Given the description of an element on the screen output the (x, y) to click on. 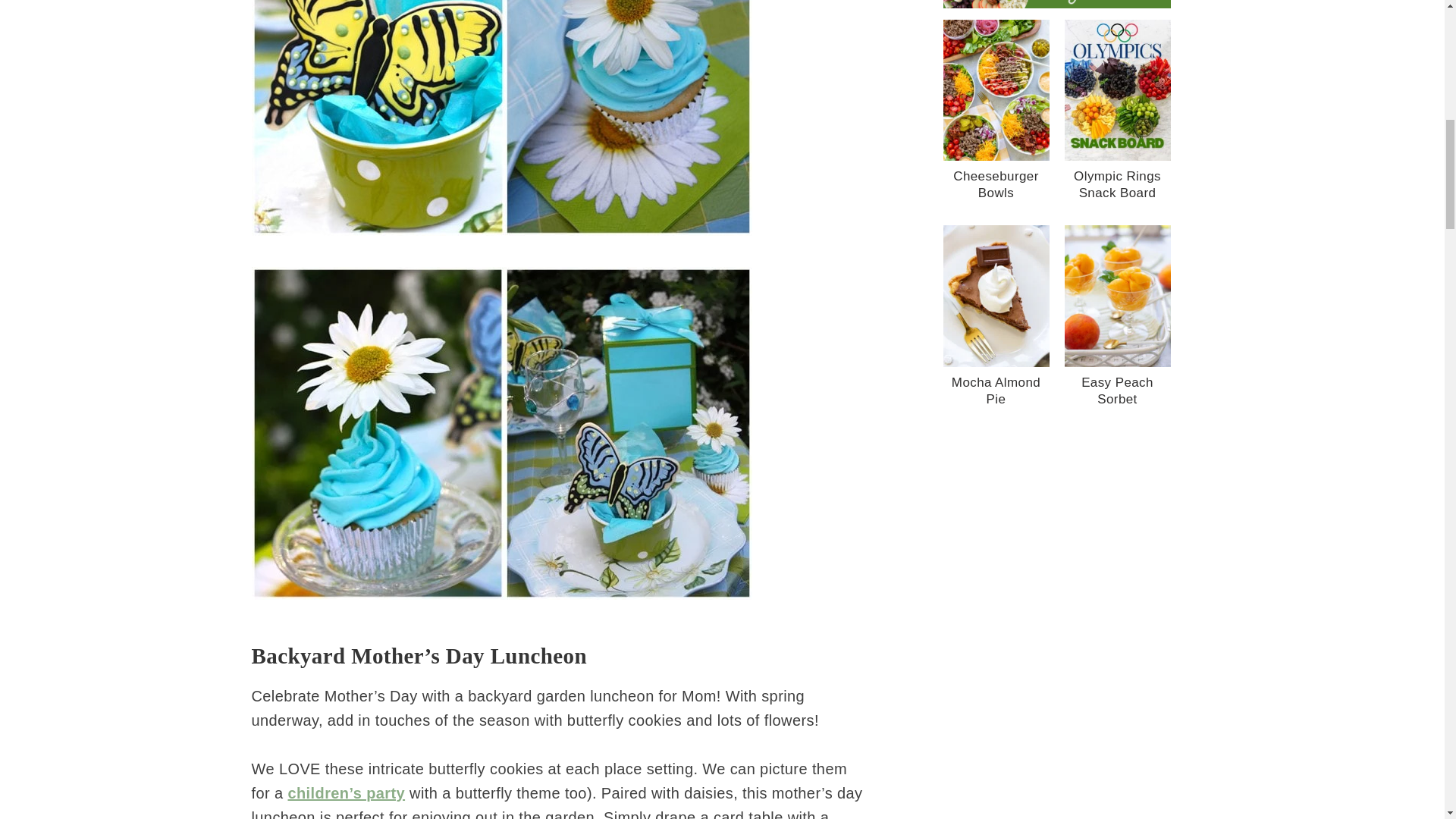
mothers day butterfly table 4 (501, 117)
